Given the description of an element on the screen output the (x, y) to click on. 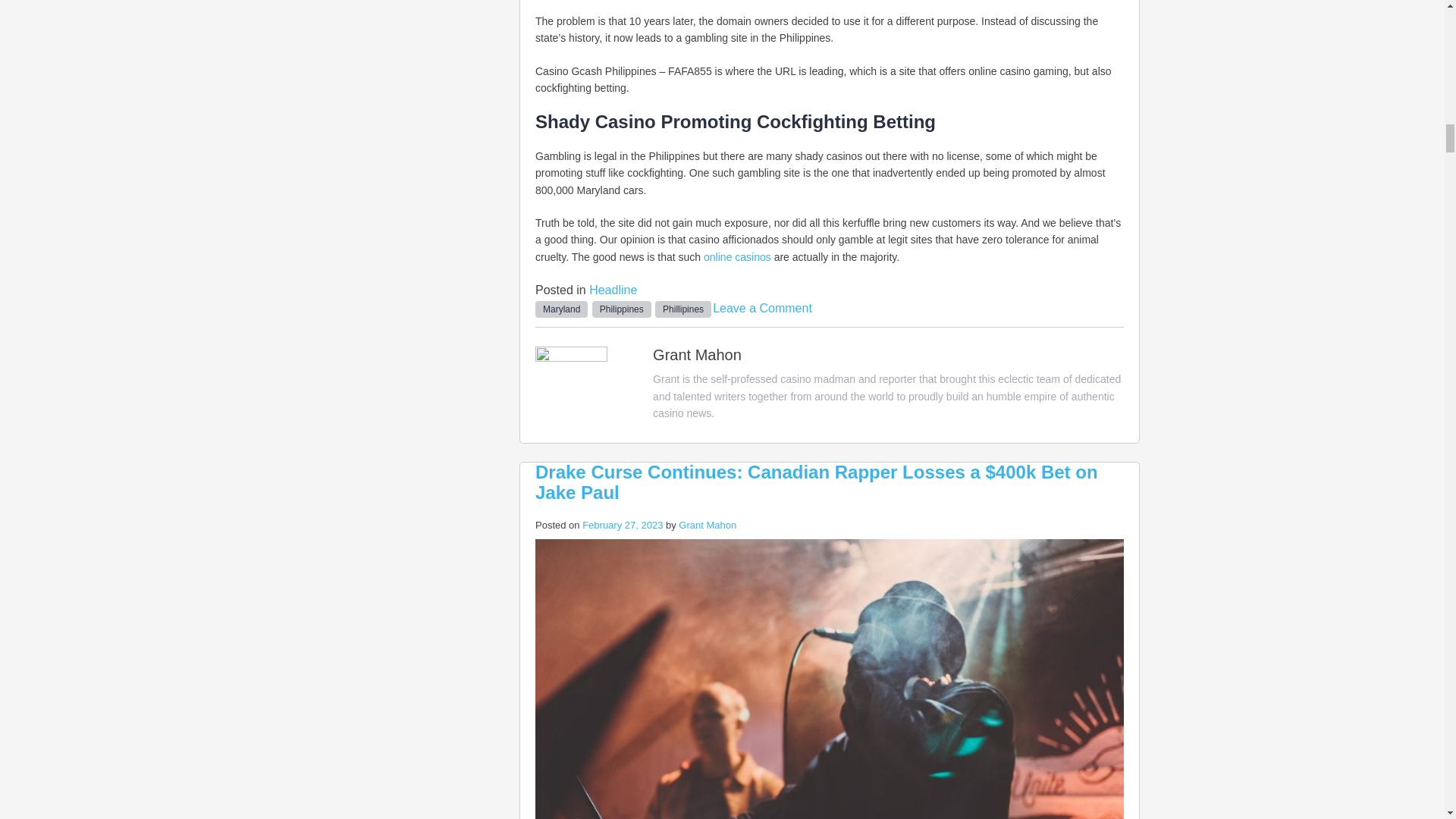
Headline (613, 289)
Phillipines (683, 309)
February 27, 2023 (622, 524)
Philippines (621, 309)
Maryland (561, 309)
online casinos (737, 256)
